Given the description of an element on the screen output the (x, y) to click on. 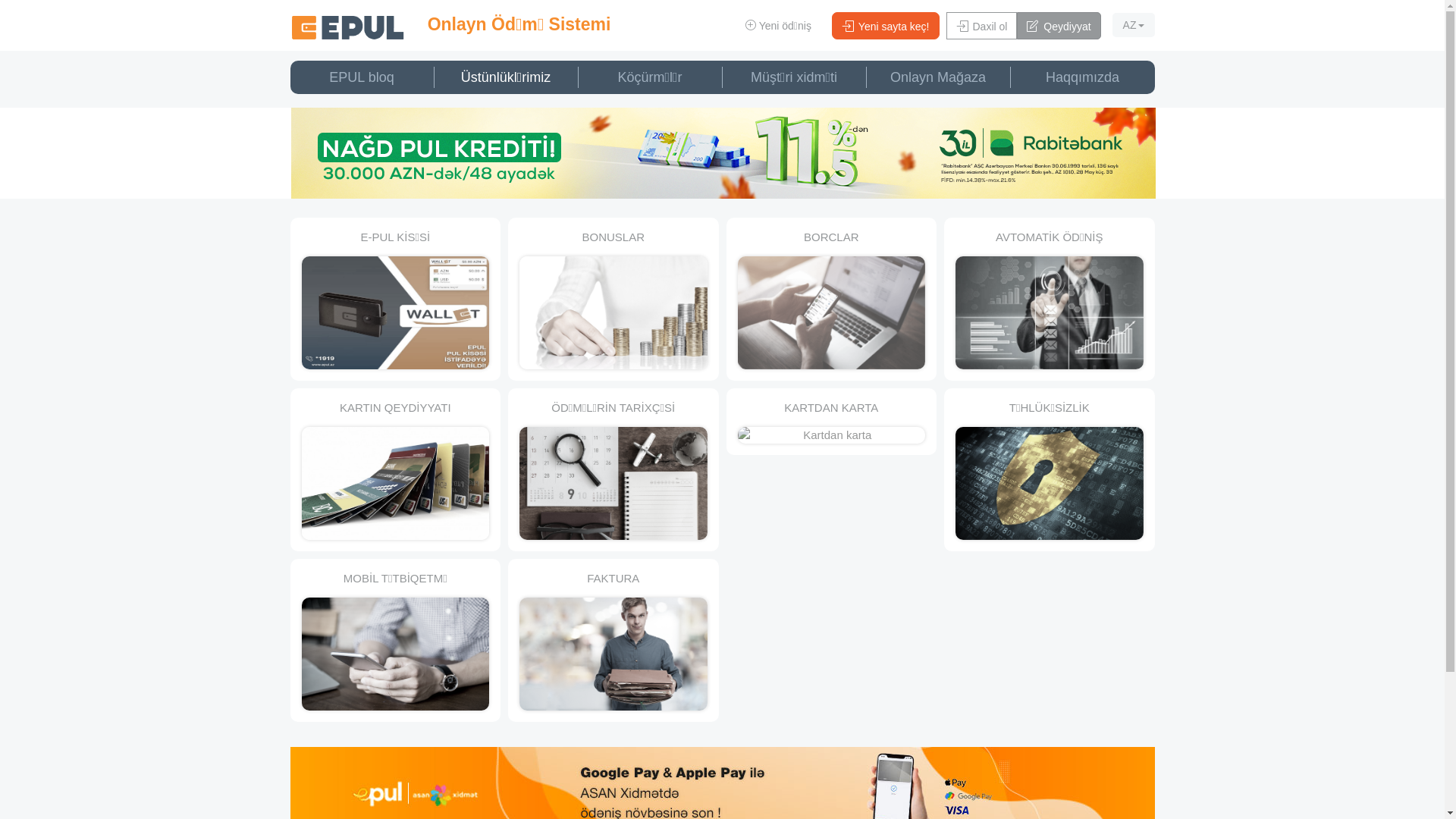
Daxil ol Element type: text (981, 25)
KARTDAN KARTA Element type: text (831, 421)
E-pul Element type: hover (346, 27)
BORCLAR Element type: text (831, 298)
BONUSLAR Element type: text (613, 298)
AZ Element type: text (1133, 24)
Qeydiyyat Element type: text (1058, 25)
EPUL bloq Element type: text (361, 76)
FAKTURA Element type: text (613, 639)
